Given the description of an element on the screen output the (x, y) to click on. 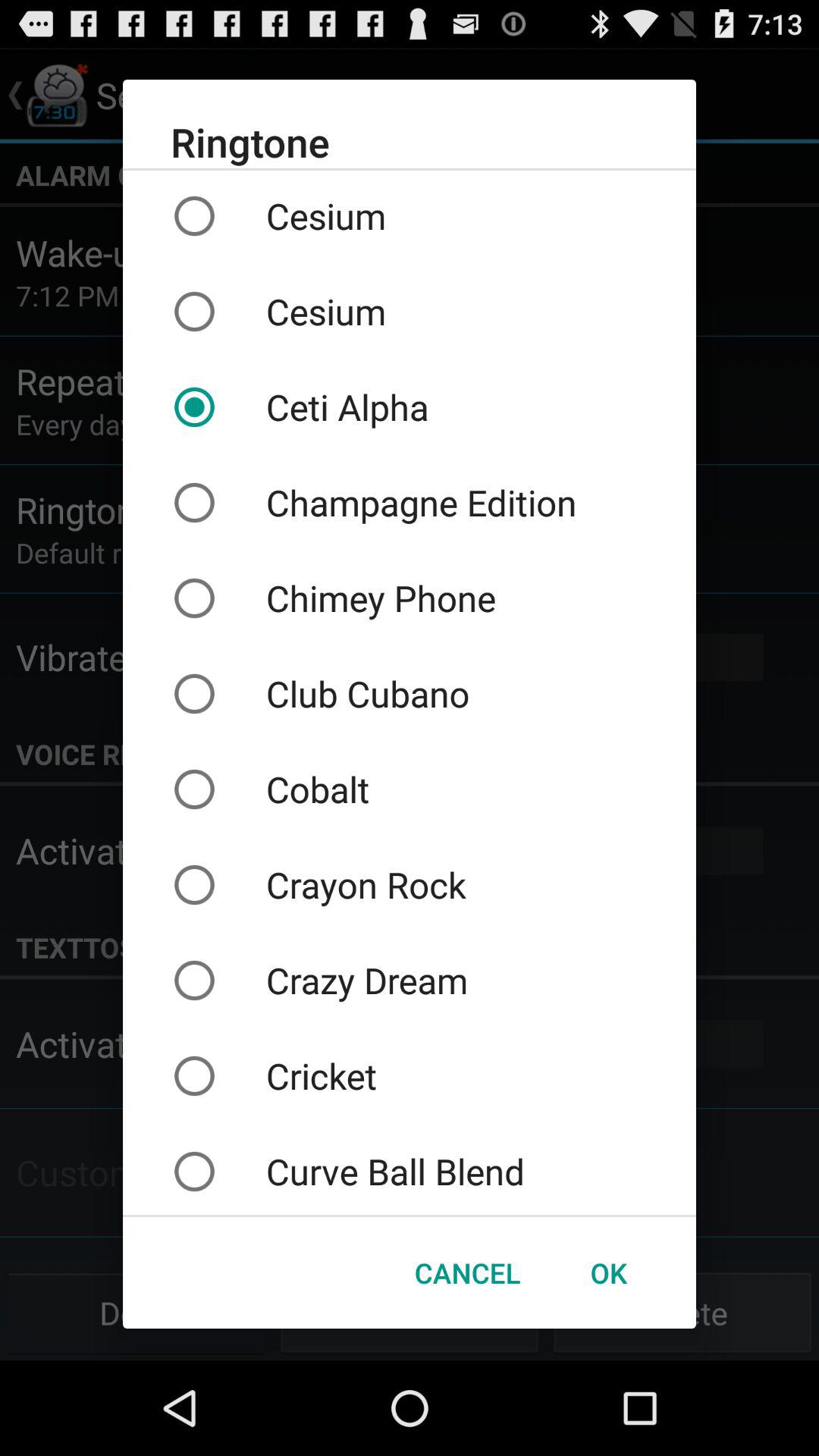
turn on the button next to cancel icon (608, 1272)
